Given the description of an element on the screen output the (x, y) to click on. 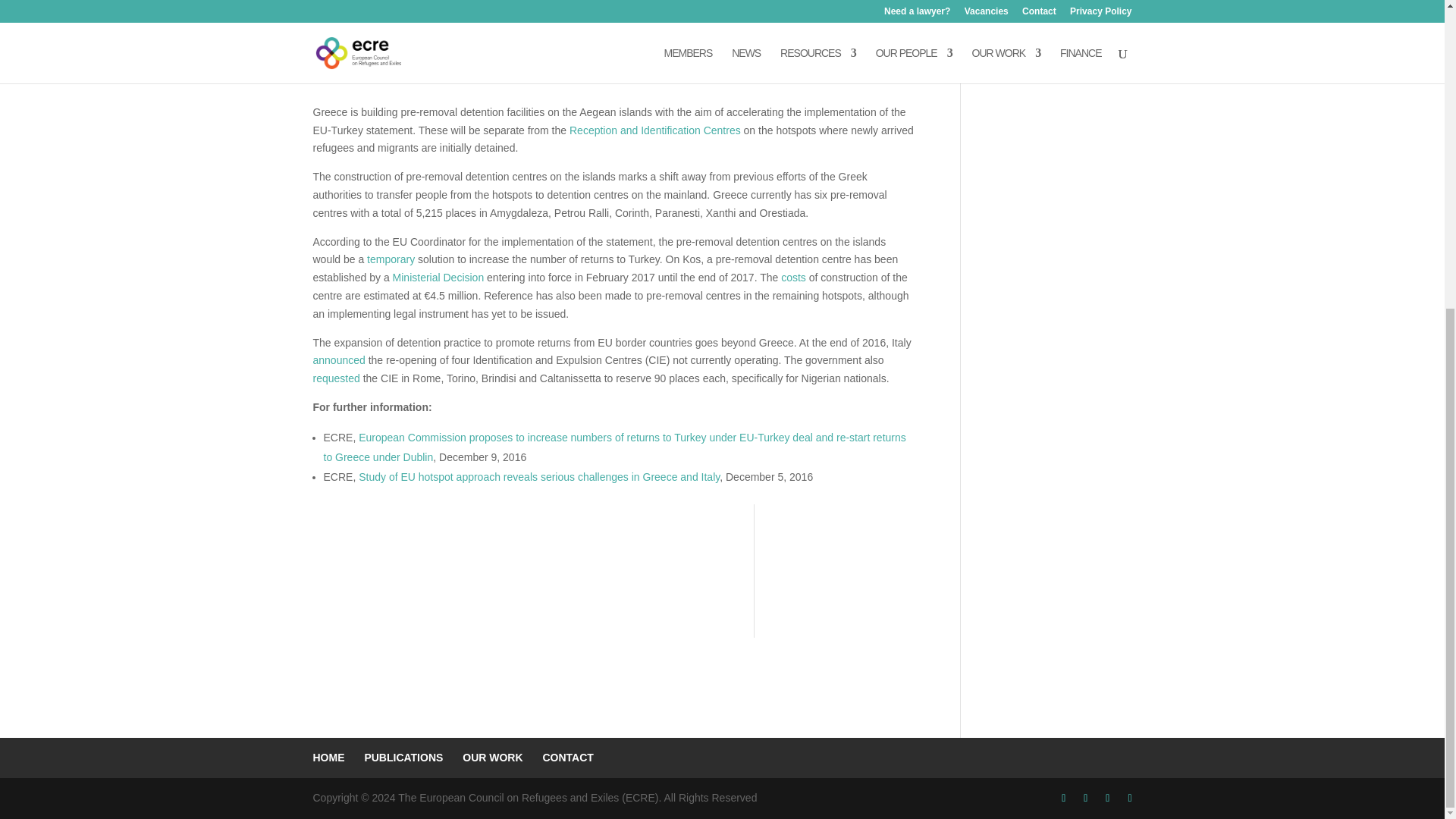
Ministerial Decision (438, 277)
temporary (390, 259)
PUBLICATIONS (403, 757)
requested (336, 378)
costs (793, 277)
Reception and Identification Centres (655, 130)
CONTACT (566, 757)
announced (339, 359)
